Given the description of an element on the screen output the (x, y) to click on. 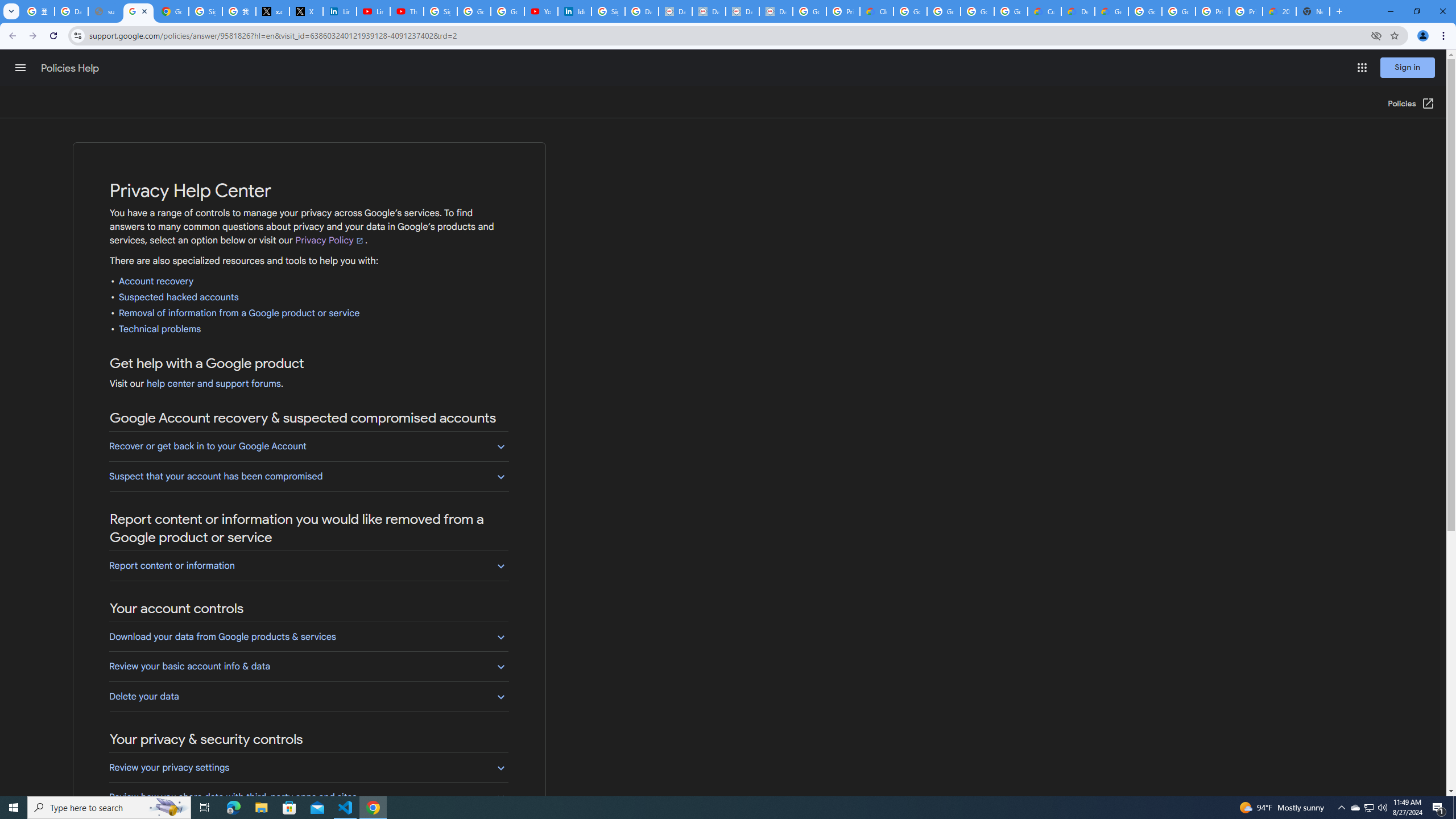
New Tab (1313, 11)
Suspected hacked accounts (178, 297)
LinkedIn - YouTube (372, 11)
Delete your data (308, 696)
Google Workspace - Specific Terms (1010, 11)
Cloud Data Processing Addendum | Google Cloud (876, 11)
Data Privacy Framework (708, 11)
